Given the description of an element on the screen output the (x, y) to click on. 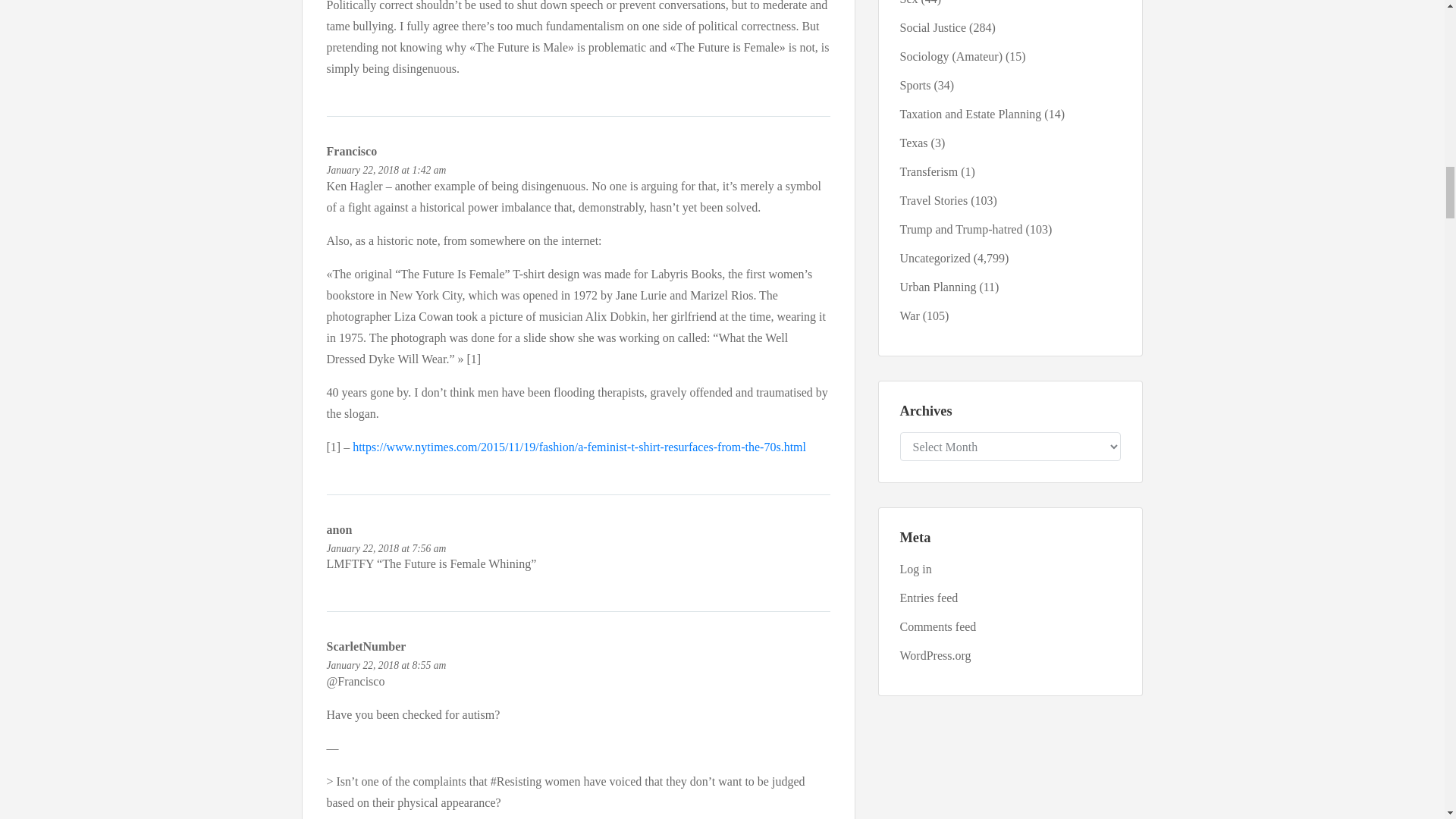
January 22, 2018 at 1:42 am (385, 170)
January 22, 2018 at 7:56 am (385, 548)
January 22, 2018 at 8:55 am (385, 665)
